Given the description of an element on the screen output the (x, y) to click on. 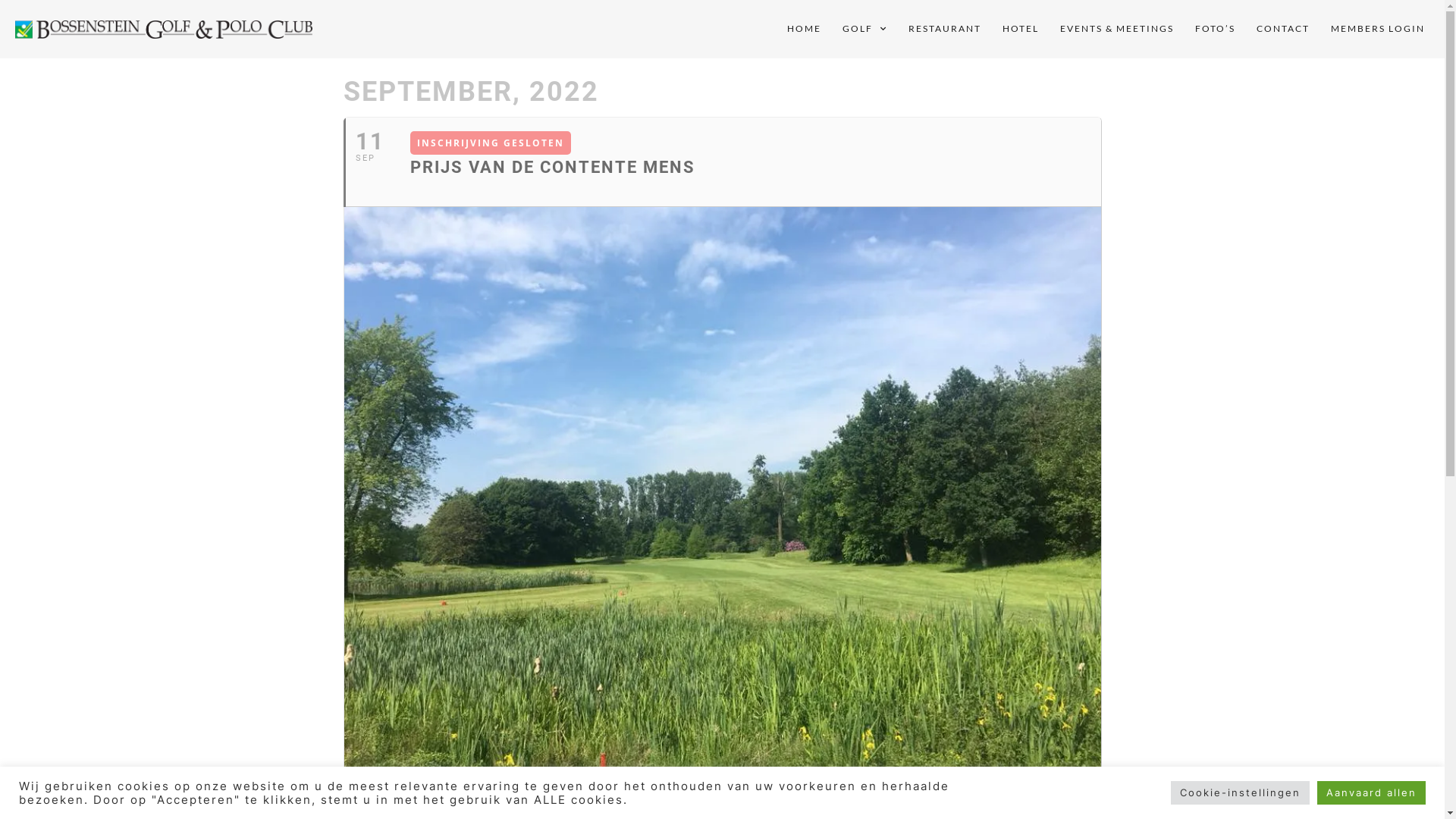
HOTEL Element type: text (1020, 28)
EVENTS & MEETINGS Element type: text (1116, 28)
Aanvaard allen Element type: text (1371, 792)
GOLF Element type: text (864, 28)
11
SEP
INSCHRIJVING GESLOTEN
PRIJS VAN DE CONTENTE MENS Element type: text (721, 162)
Cookie-instellingen Element type: text (1239, 792)
HOME Element type: text (803, 28)
RESTAURANT Element type: text (944, 28)
CONTACT Element type: text (1282, 28)
MEMBERS LOGIN Element type: text (1377, 28)
